Given the description of an element on the screen output the (x, y) to click on. 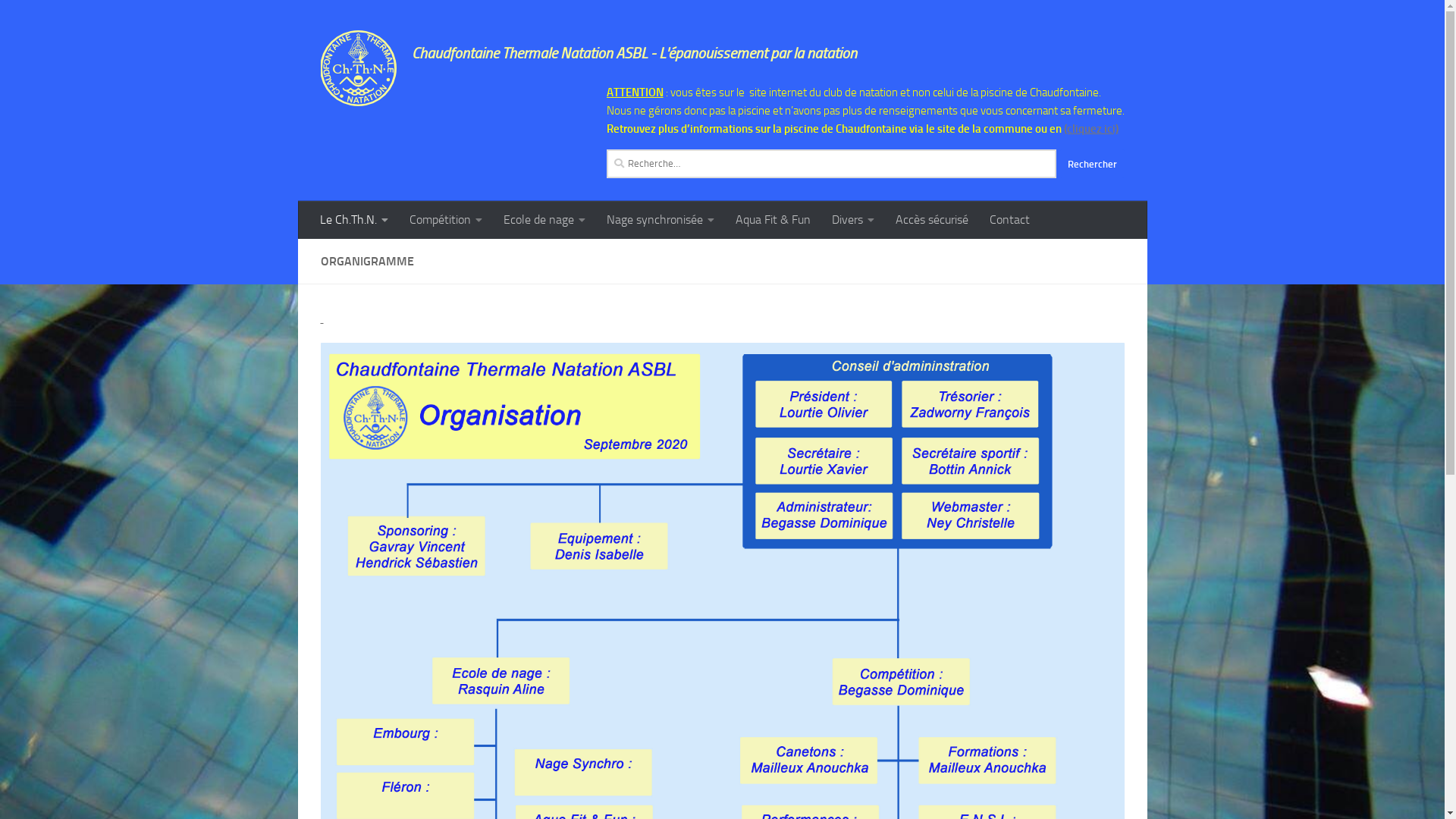
Ecole de nage Element type: text (544, 219)
Le Ch.Th.N. Element type: text (353, 219)
(cliquez ici) Element type: text (1090, 128)
Chaudfontaine Thermale Natation ASBL | Home page Element type: hover (357, 68)
Aqua Fit & Fun Element type: text (772, 219)
Skip to content Element type: text (60, 21)
Contact Element type: text (1008, 219)
Rechercher Element type: text (1092, 163)
Divers Element type: text (852, 219)
